Given the description of an element on the screen output the (x, y) to click on. 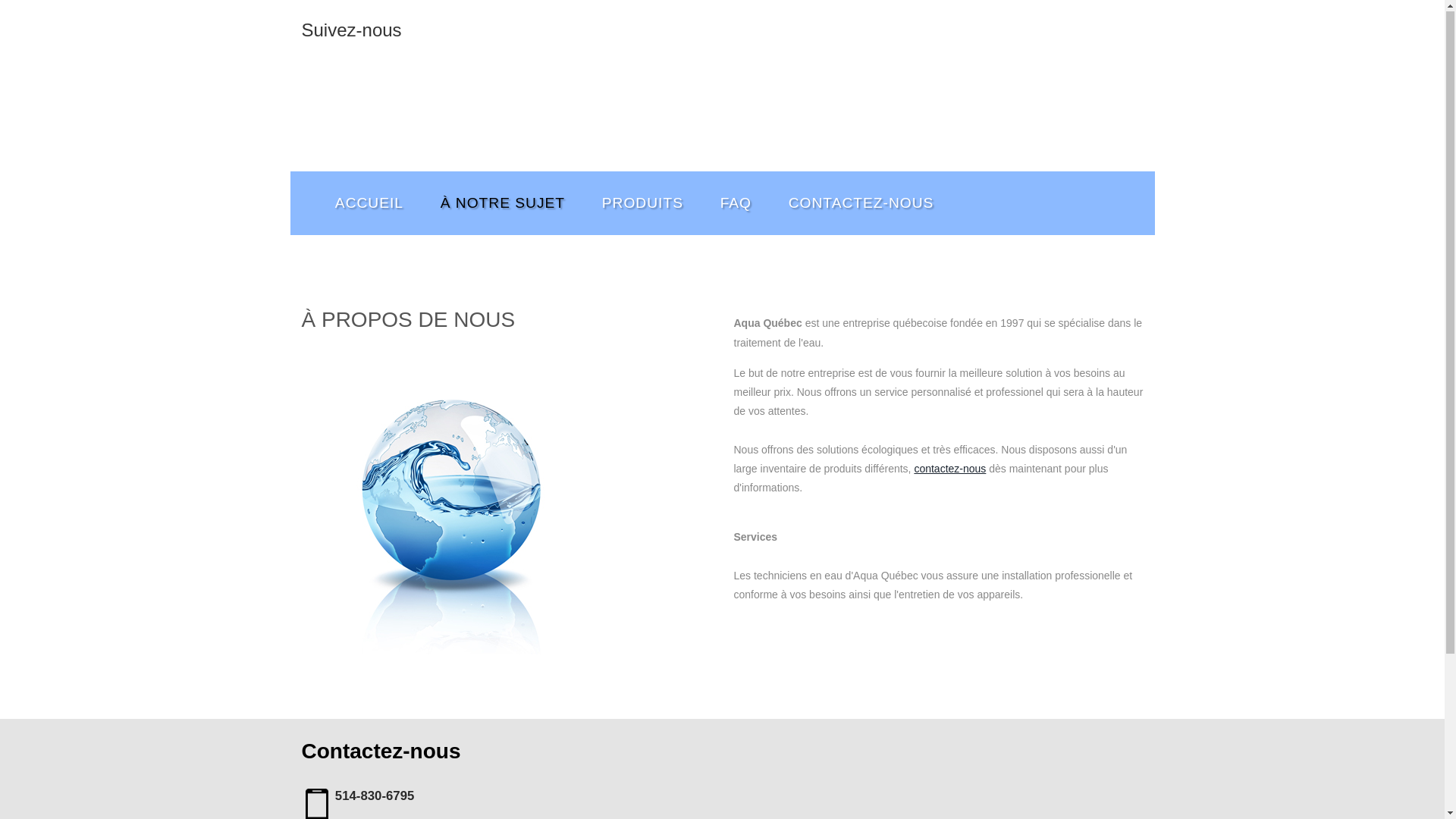
about Element type: hover (453, 503)
PRODUITS Element type: text (642, 203)
ACCUEIL Element type: text (369, 203)
CONTACTEZ-NOUS Element type: text (860, 203)
contactez-nous Element type: text (949, 469)
FAQ Element type: text (735, 203)
